Given the description of an element on the screen output the (x, y) to click on. 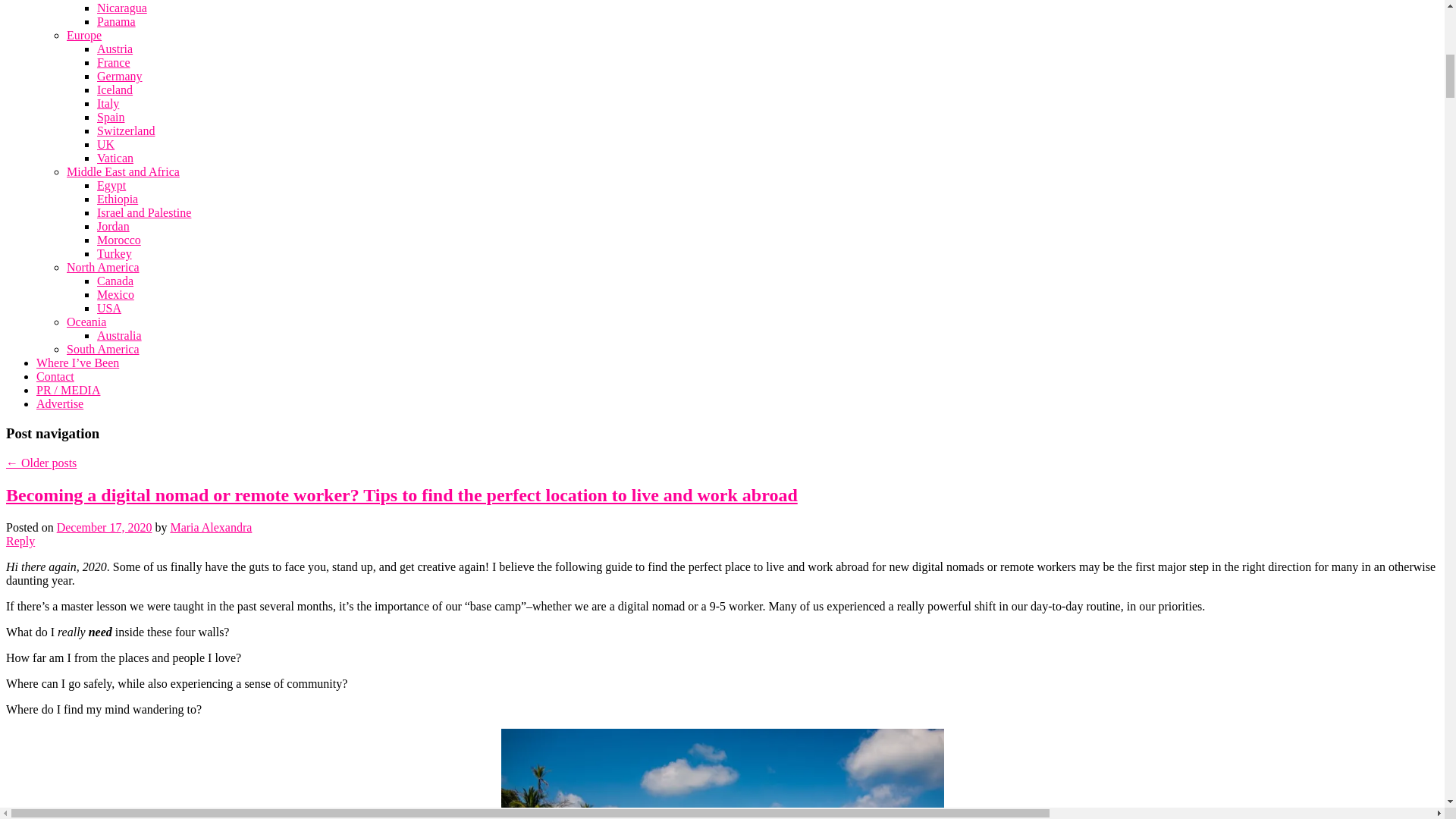
9:35 PM (104, 526)
View all posts by Maria Alexandra (210, 526)
